Given the description of an element on the screen output the (x, y) to click on. 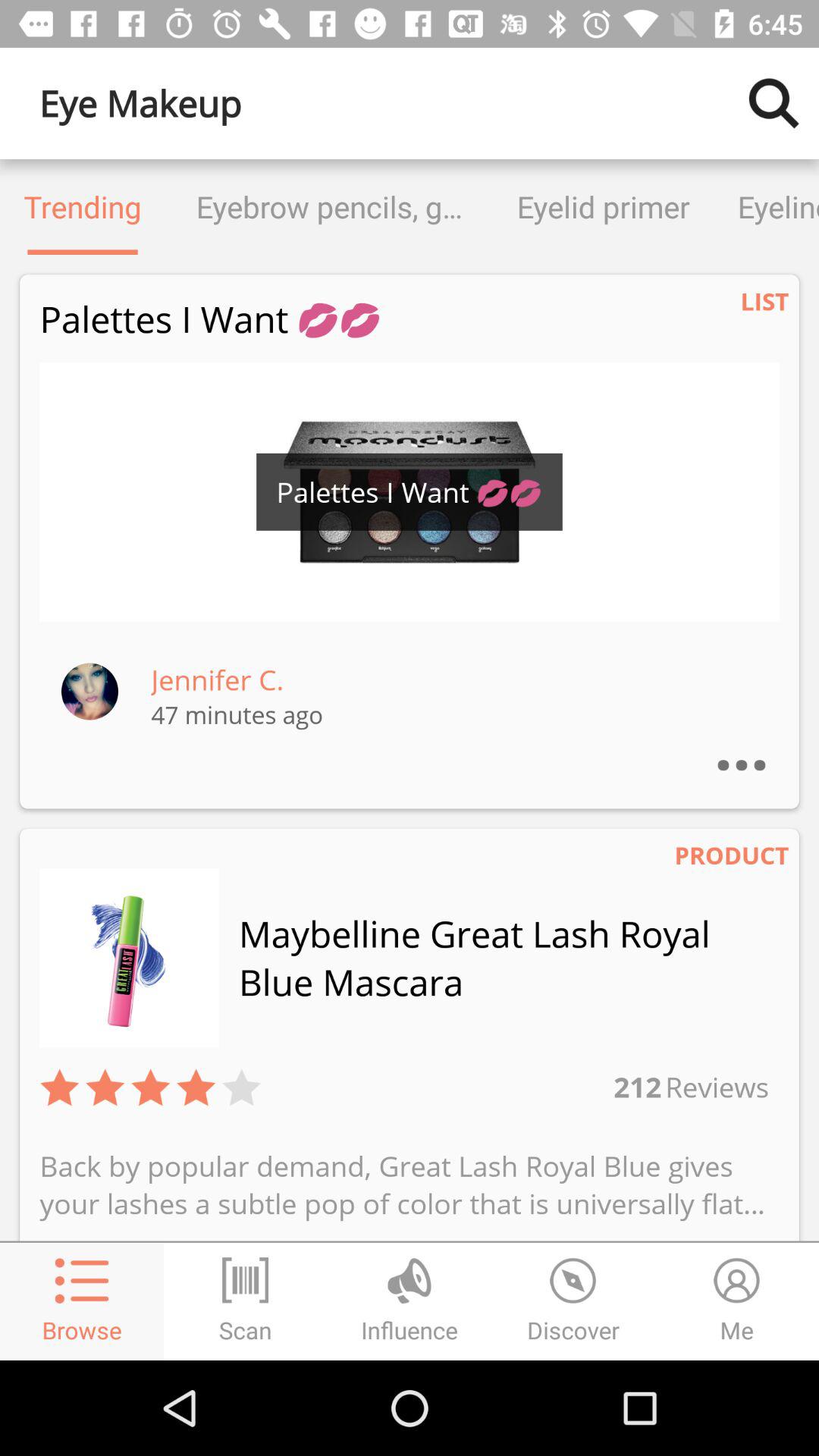
search something (773, 103)
